Given the description of an element on the screen output the (x, y) to click on. 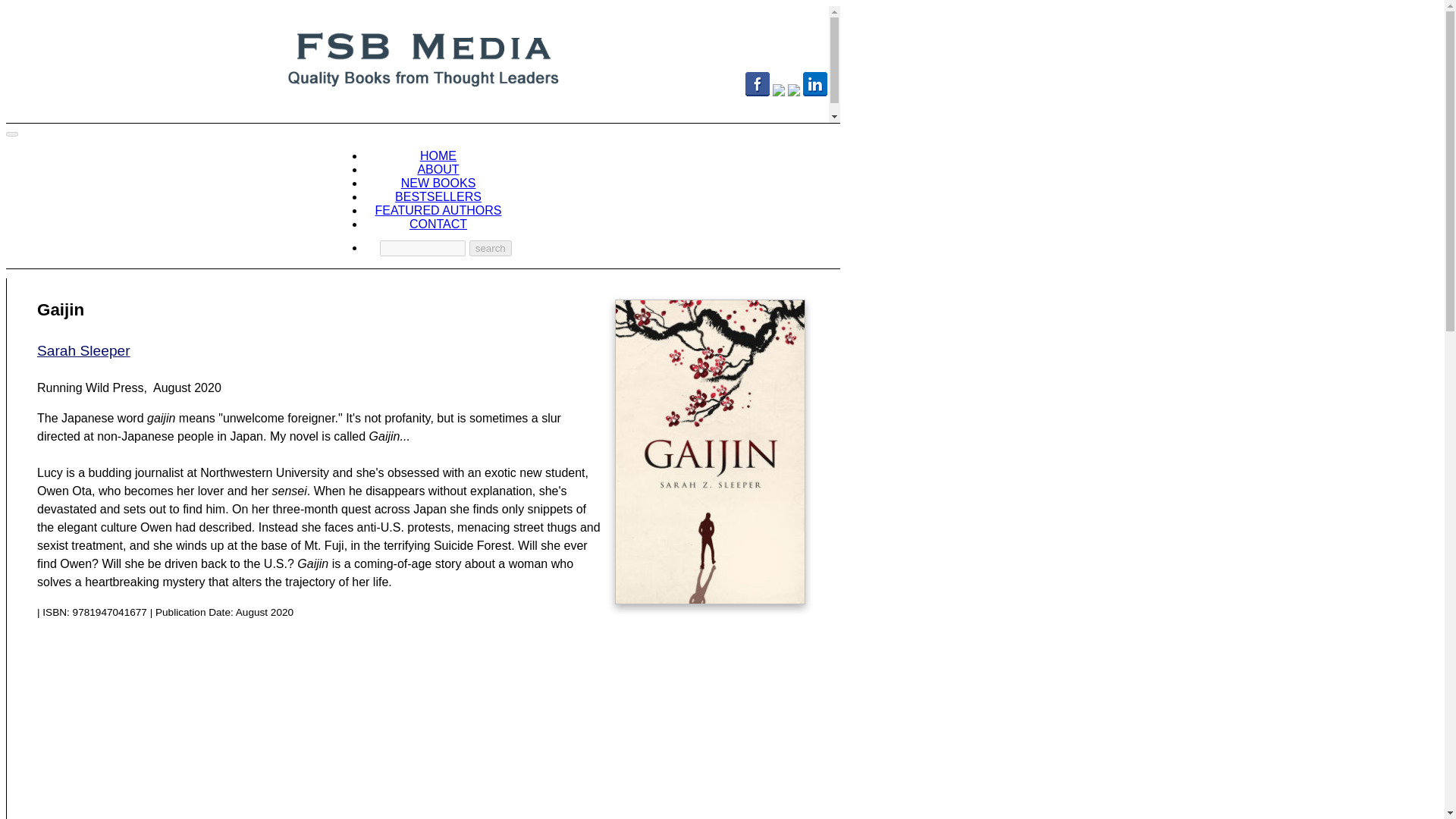
search (490, 248)
Toggle navigation (11, 133)
search (490, 248)
Sarah Sleeper (84, 350)
